Given the description of an element on the screen output the (x, y) to click on. 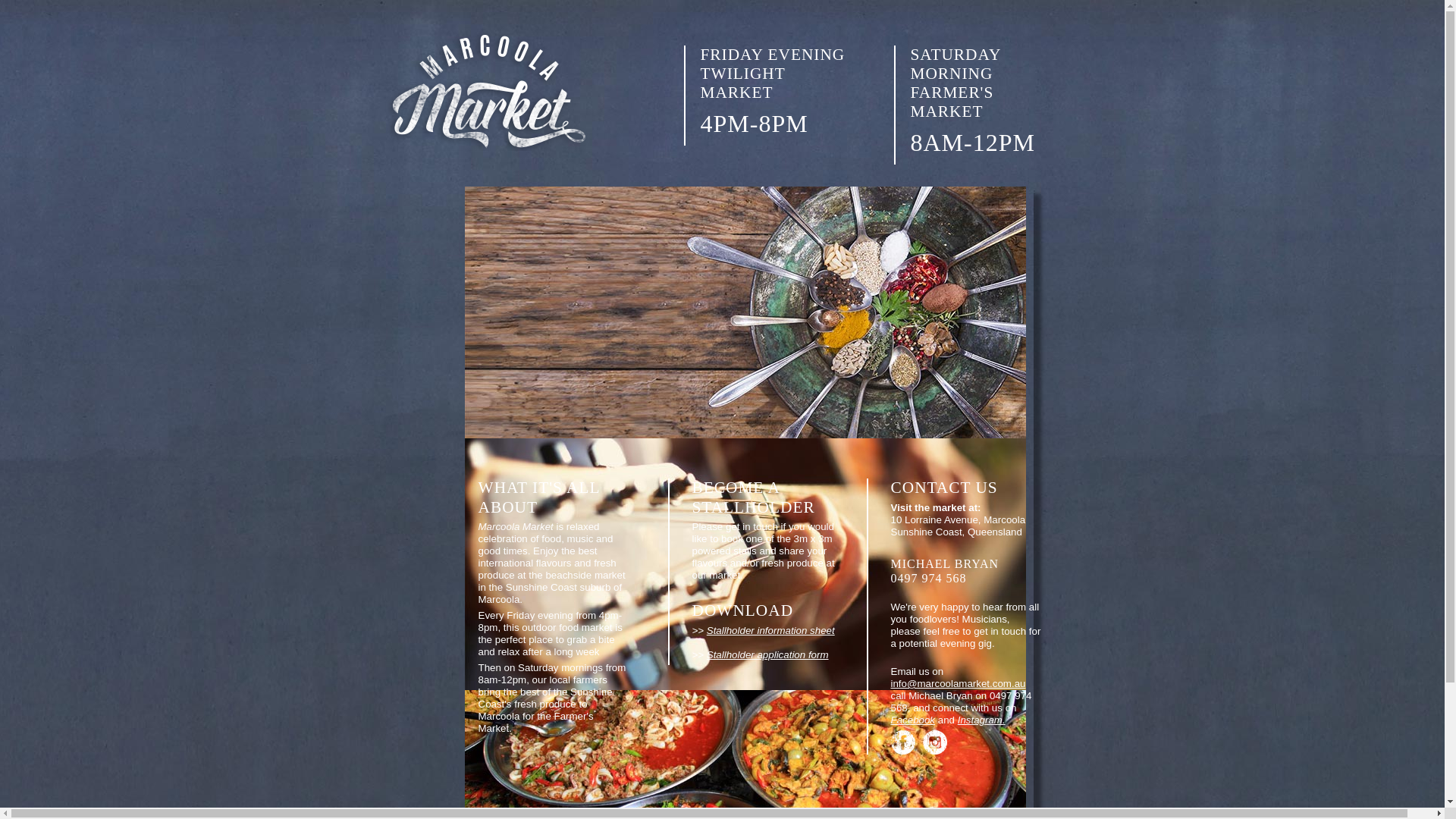
Stallholder information sheet Element type: text (770, 630)
Stallholder application form Element type: text (767, 654)
Instagram. Element type: text (981, 719)
Facebook Element type: text (912, 719)
info@marcoolamarket.com.au Element type: text (957, 683)
